Given the description of an element on the screen output the (x, y) to click on. 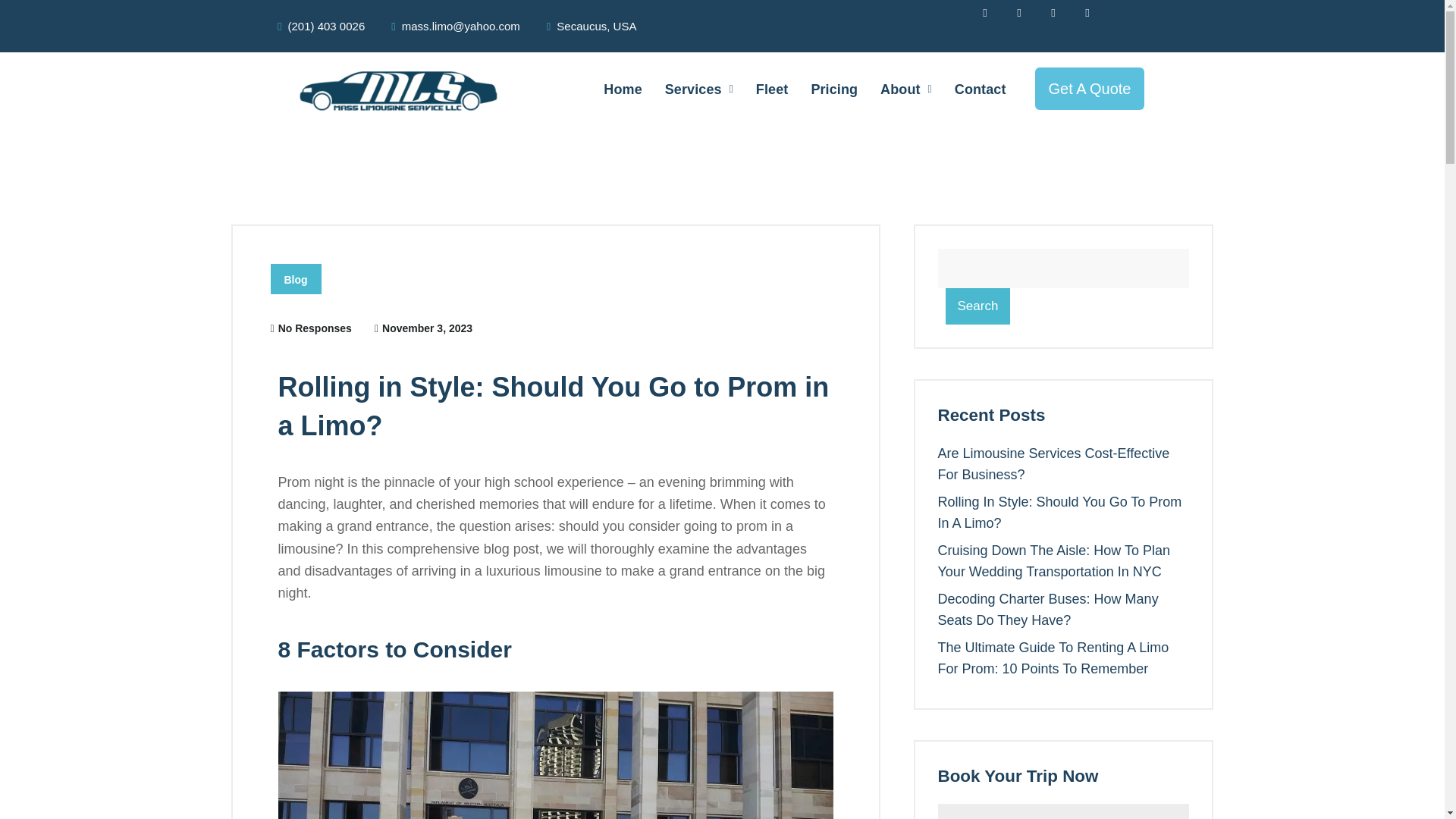
Decoding Charter Buses: How Many Seats Do They Have? (1047, 609)
Home (622, 89)
Secaucus, USA (592, 25)
Services (698, 89)
Are Limousine Services Cost-Effective For Business? (1053, 463)
Contact (980, 89)
Blog (294, 278)
Pricing (834, 89)
Fleet (771, 89)
Rolling In Style: Should You Go To Prom In A Limo? (1058, 512)
Search (977, 306)
Get A Quote (1089, 88)
About (906, 89)
